Given the description of an element on the screen output the (x, y) to click on. 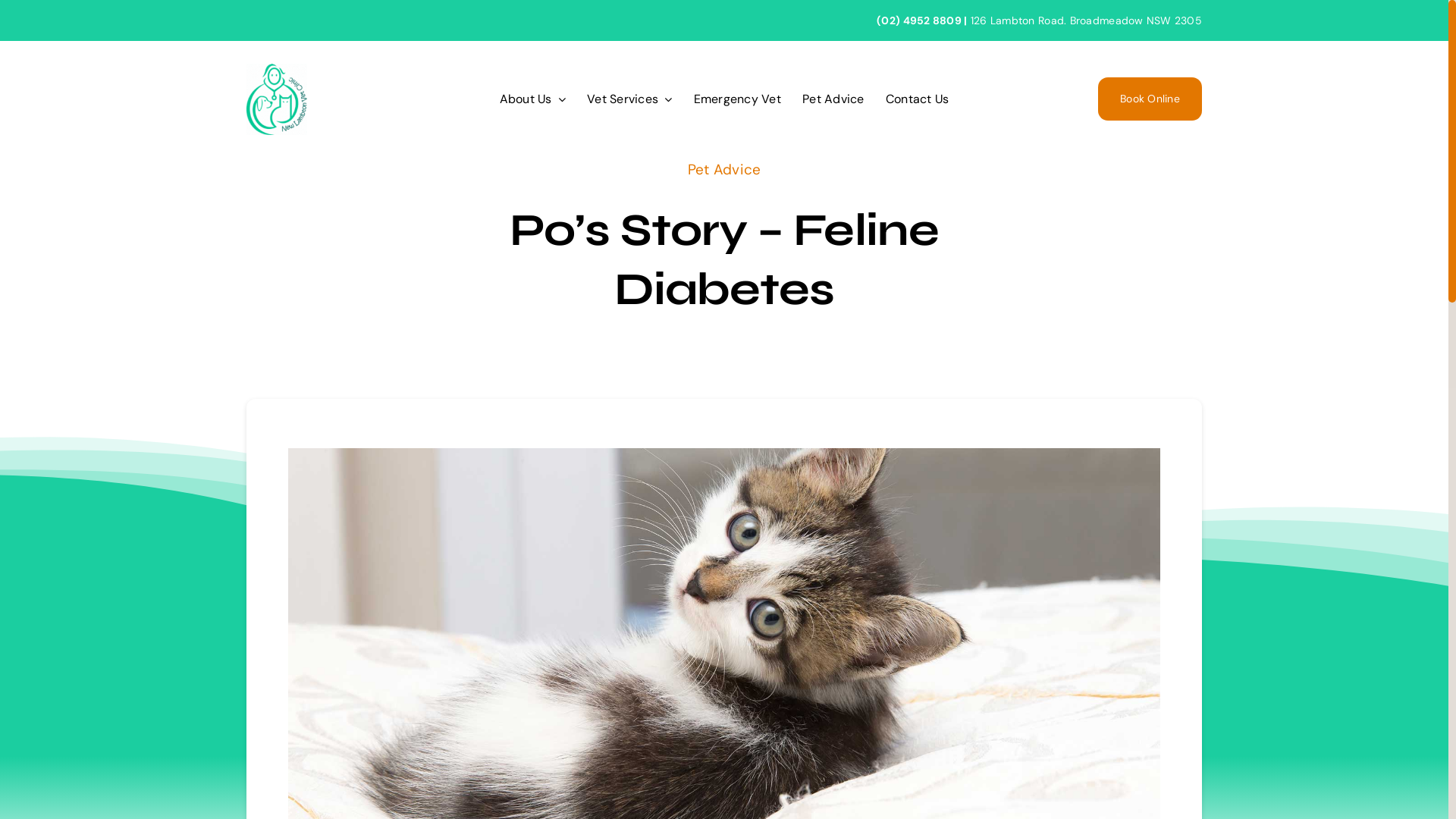
Pet Advice Element type: text (832, 99)
126 Lambton Road. Broadmeadow NSW 2305 Element type: text (1085, 20)
Book Online Element type: text (1149, 98)
About Us Element type: text (532, 99)
(02) 4952 8809 Element type: text (918, 20)
Vet Services Element type: text (628, 99)
Emergency Vet Element type: text (737, 99)
Contact Us Element type: text (916, 99)
